Given the description of an element on the screen output the (x, y) to click on. 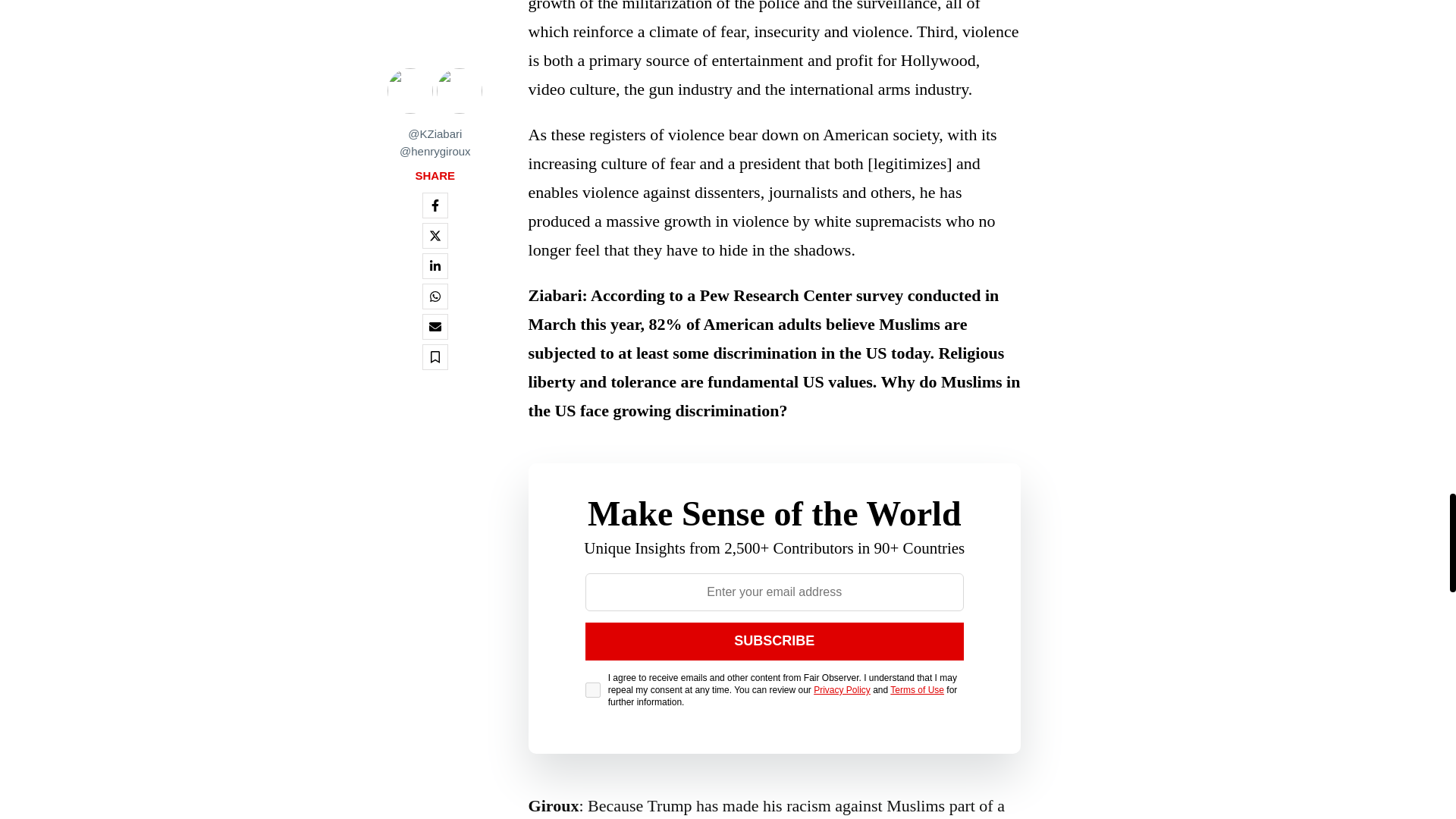
SUBSCRIBE (774, 641)
